Given the description of an element on the screen output the (x, y) to click on. 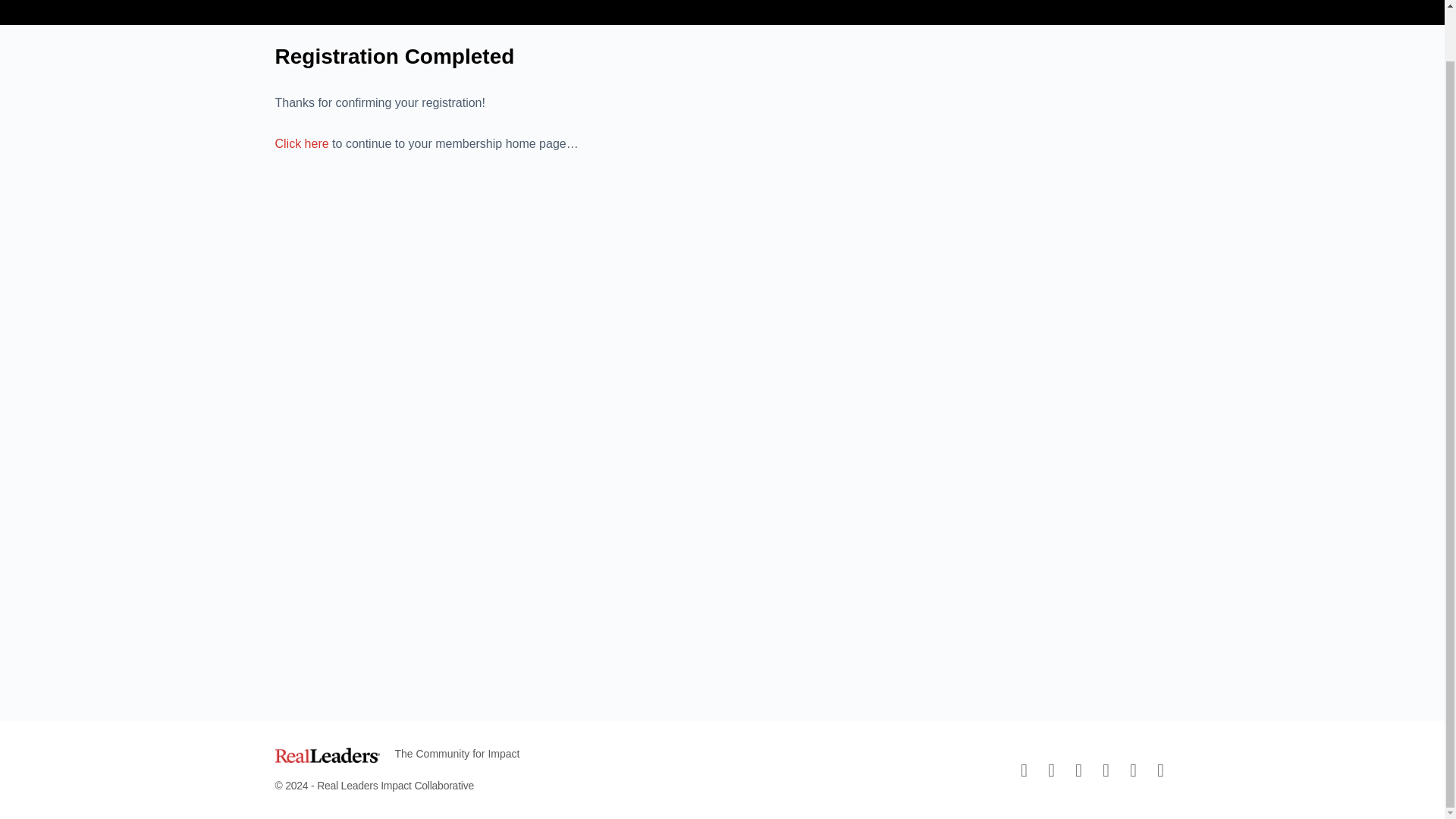
Knowledge Base (652, 1)
Magazines (546, 1)
News (902, 1)
Events (838, 1)
Click here (302, 143)
Community (759, 1)
